Given the description of an element on the screen output the (x, y) to click on. 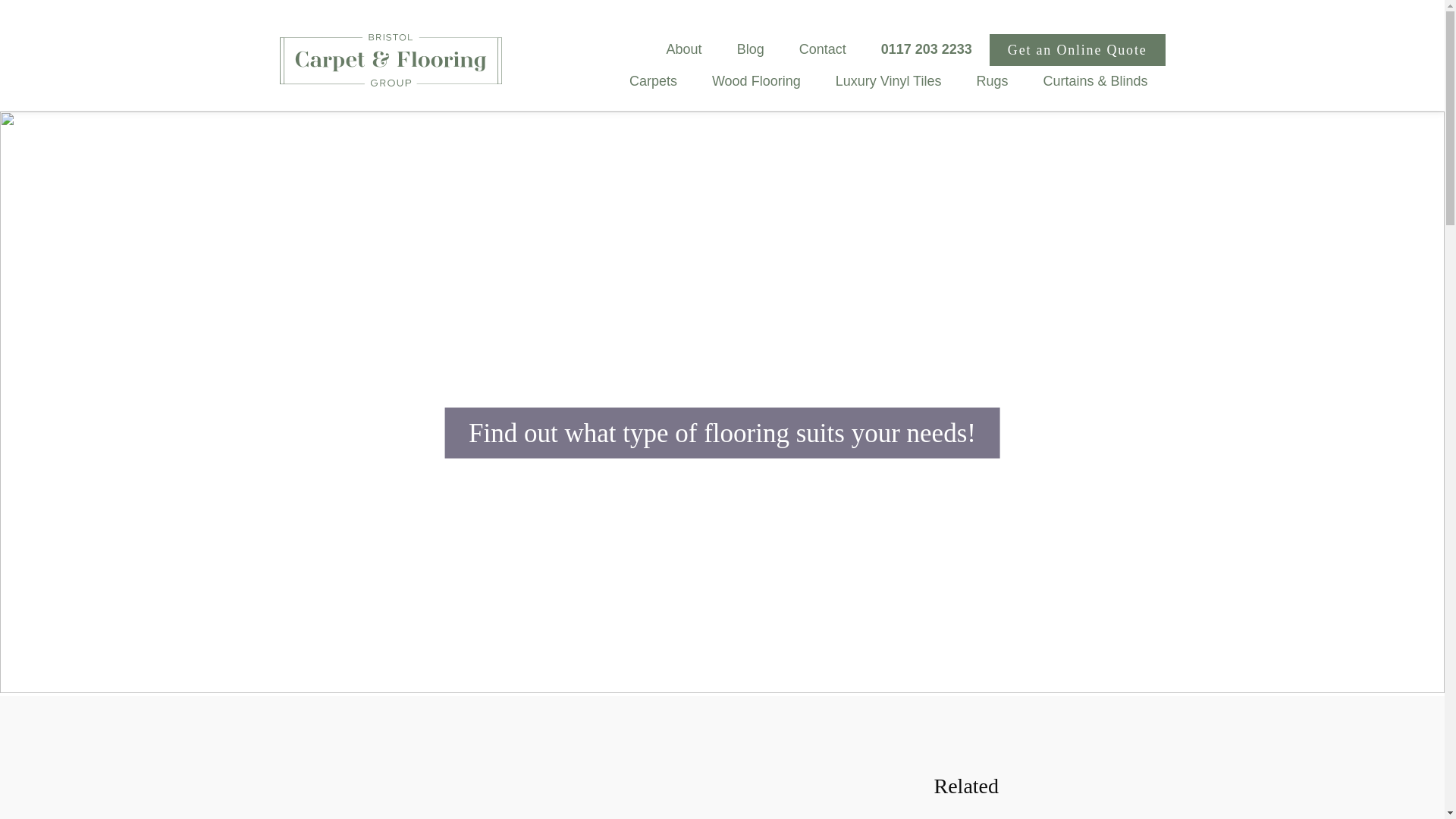
Contact (822, 48)
0117 203 2233 (926, 48)
Carpets (652, 80)
Rugs (991, 80)
Wood Flooring (755, 80)
About (683, 48)
Luxury Vinyl Tiles (888, 80)
Get an Online Quote (1078, 50)
Blog (750, 48)
